Given the description of an element on the screen output the (x, y) to click on. 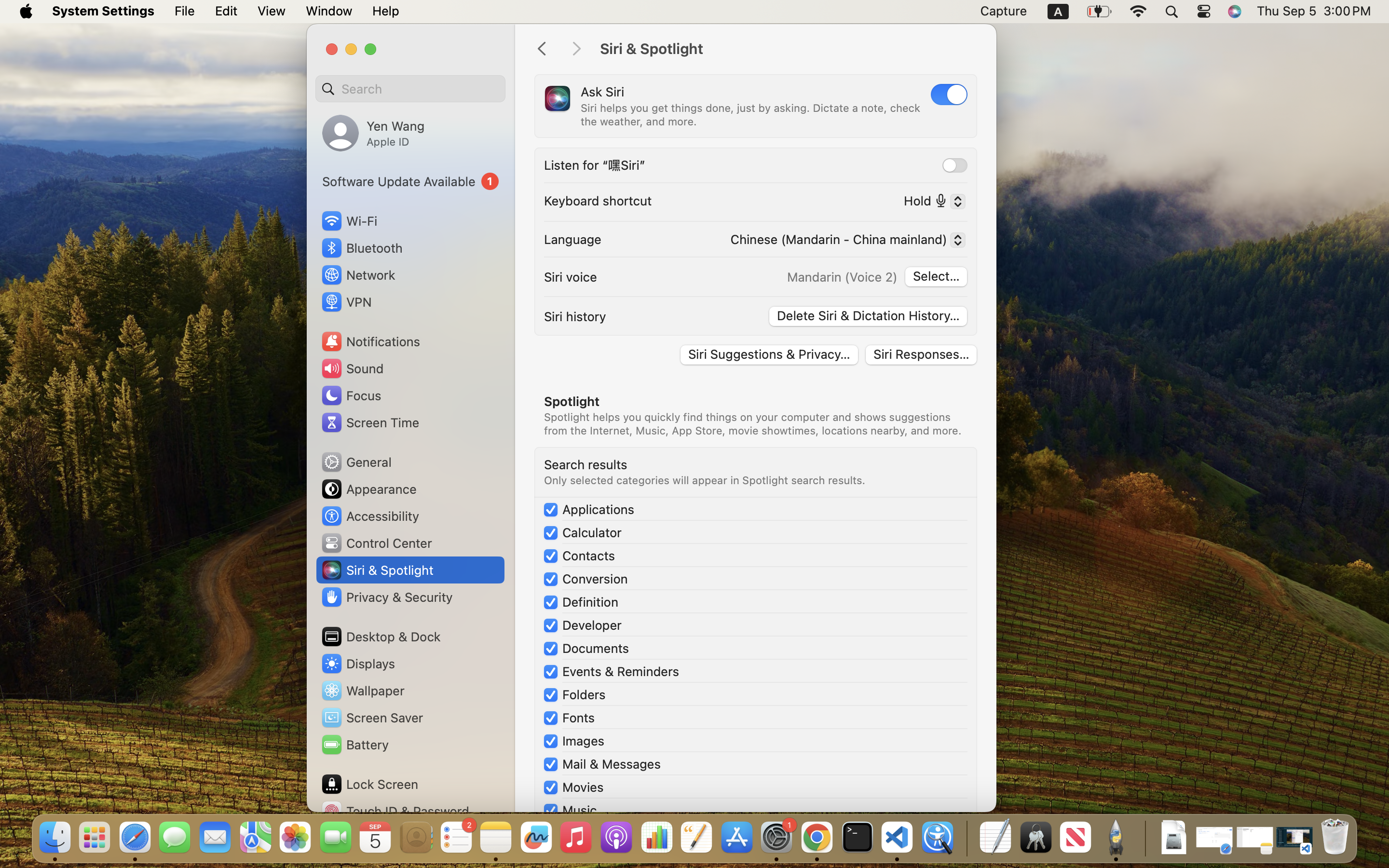
VPN Element type: AXStaticText (345, 301)
Focus Element type: AXStaticText (350, 394)
Notifications Element type: AXStaticText (370, 340)
Chinese (Mandarin - China mainland) Element type: AXPopUpButton (843, 241)
Wi‑Fi Element type: AXStaticText (348, 220)
